Given the description of an element on the screen output the (x, y) to click on. 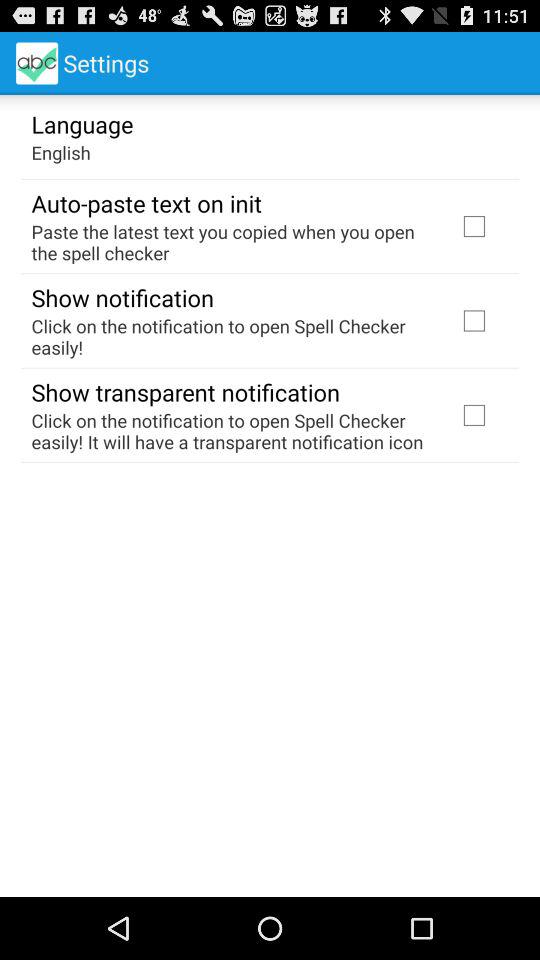
press item below the language app (60, 151)
